Given the description of an element on the screen output the (x, y) to click on. 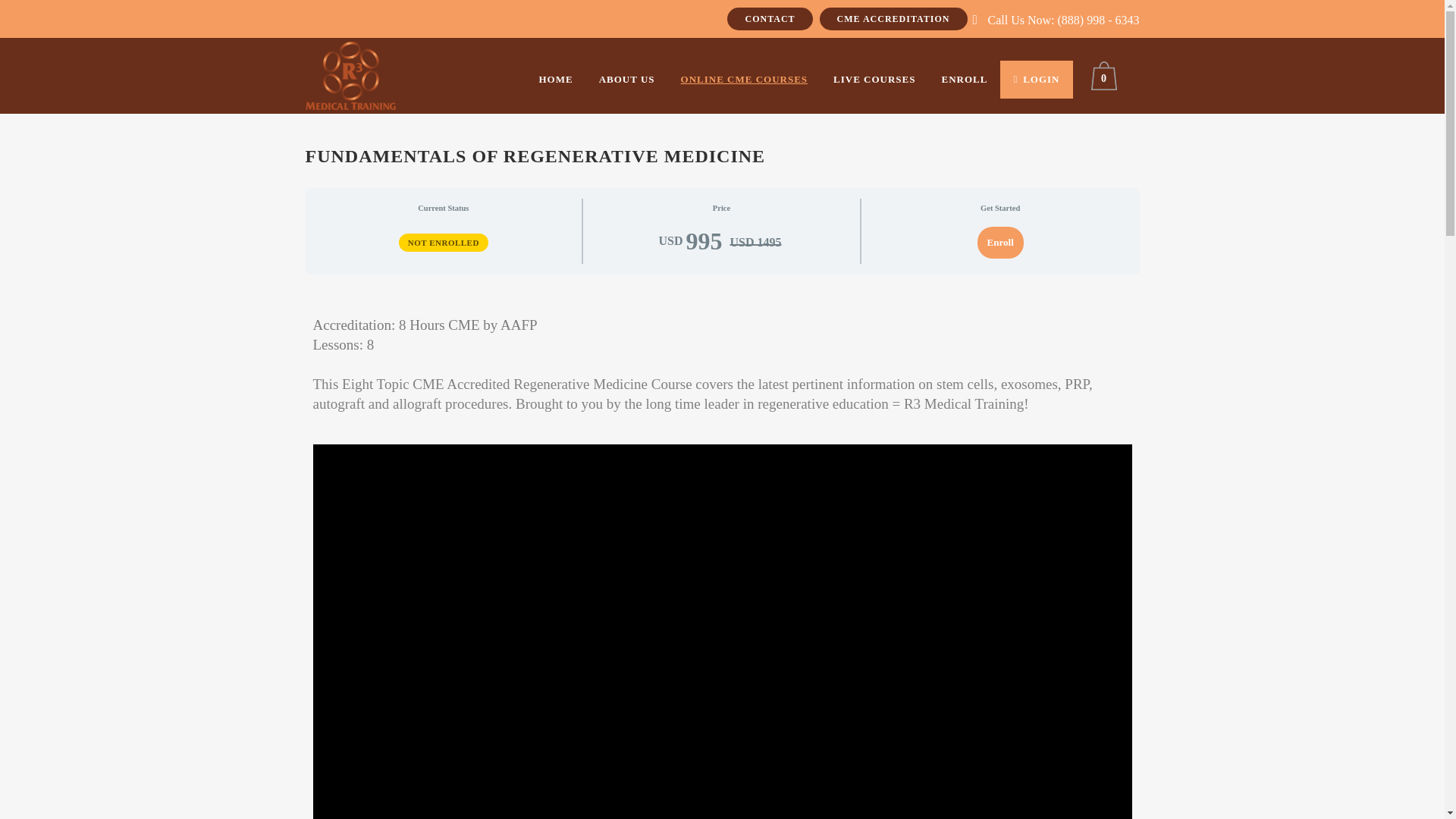
LOGIN (1035, 79)
0 (1106, 75)
ONLINE CME COURSES (744, 79)
ABOUT US (627, 79)
ENROLL (964, 79)
LIVE COURSES (874, 79)
CME ACCREDITATION (893, 18)
CONTACT (769, 18)
HOME (555, 79)
Enroll (999, 242)
